Given the description of an element on the screen output the (x, y) to click on. 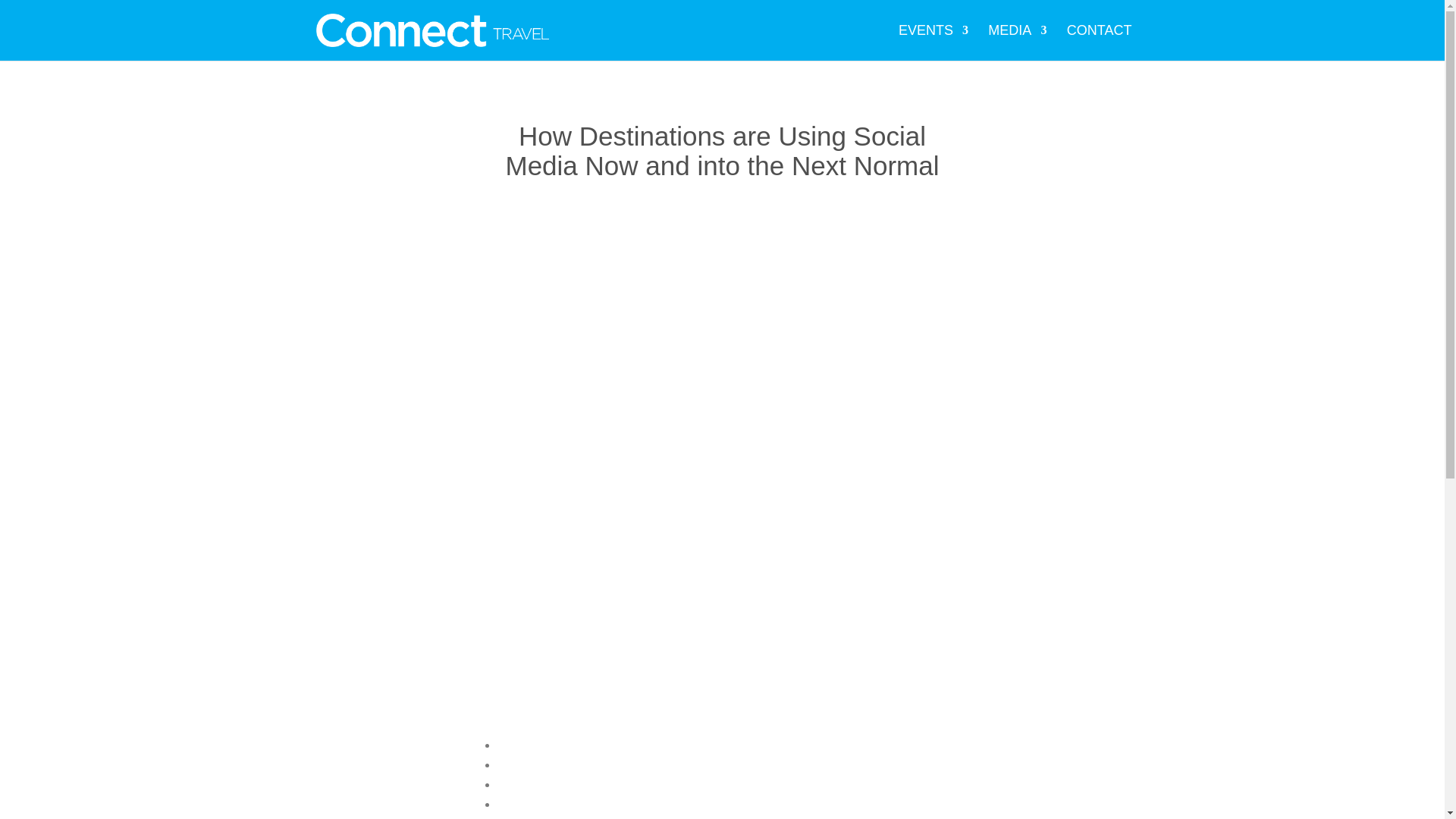
EVENTS (933, 42)
MEDIA (1017, 42)
CONTACT (1099, 42)
